Given the description of an element on the screen output the (x, y) to click on. 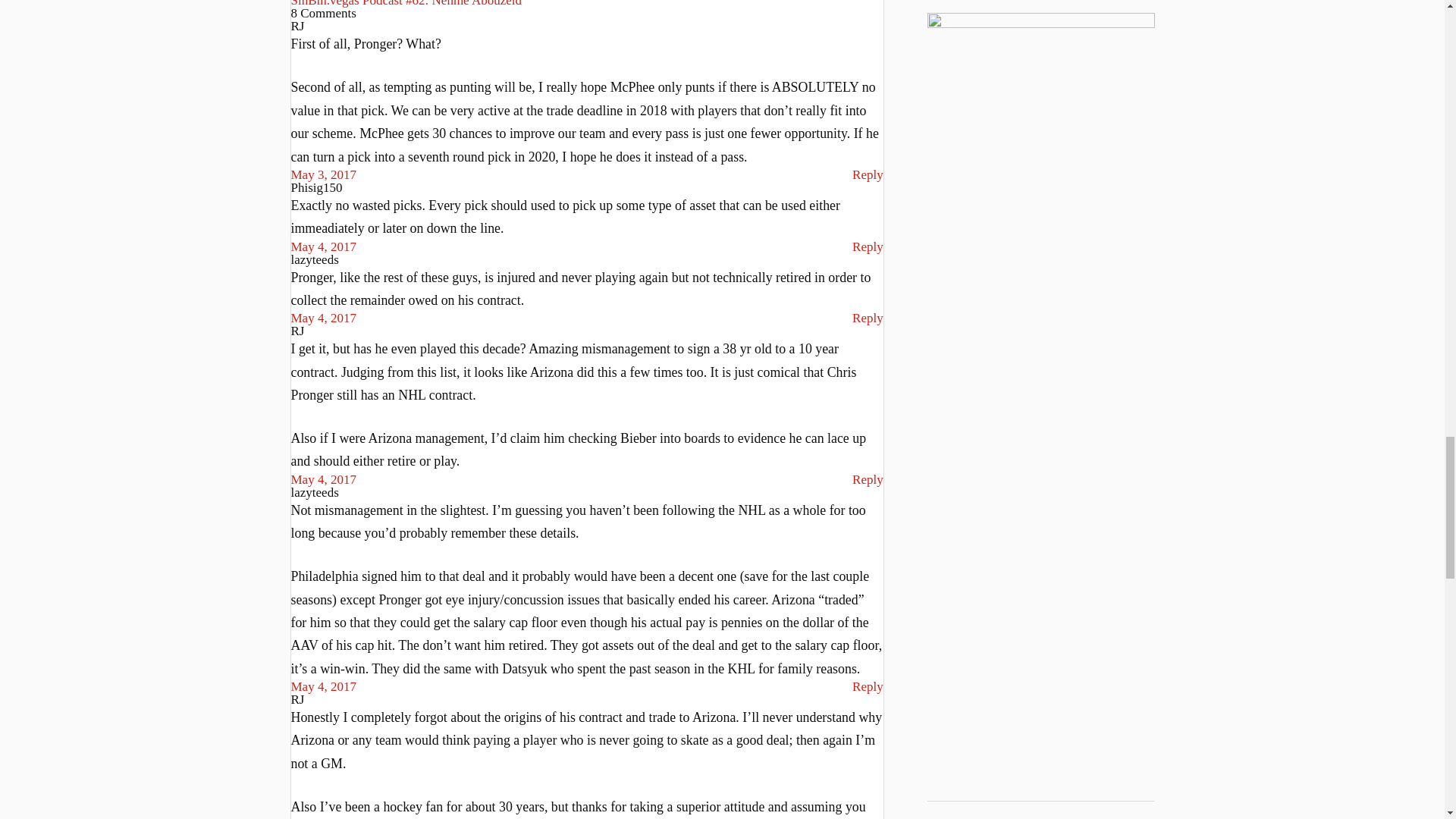
May 4, 2017 at 9:58 AM (323, 246)
May 4, 2017 at 11:55 AM (323, 479)
May 4, 2017 at 12:03 PM (323, 686)
May 4, 2017 at 10:51 AM (323, 318)
May 3, 2017 at 6:15 PM (323, 174)
